Given the description of an element on the screen output the (x, y) to click on. 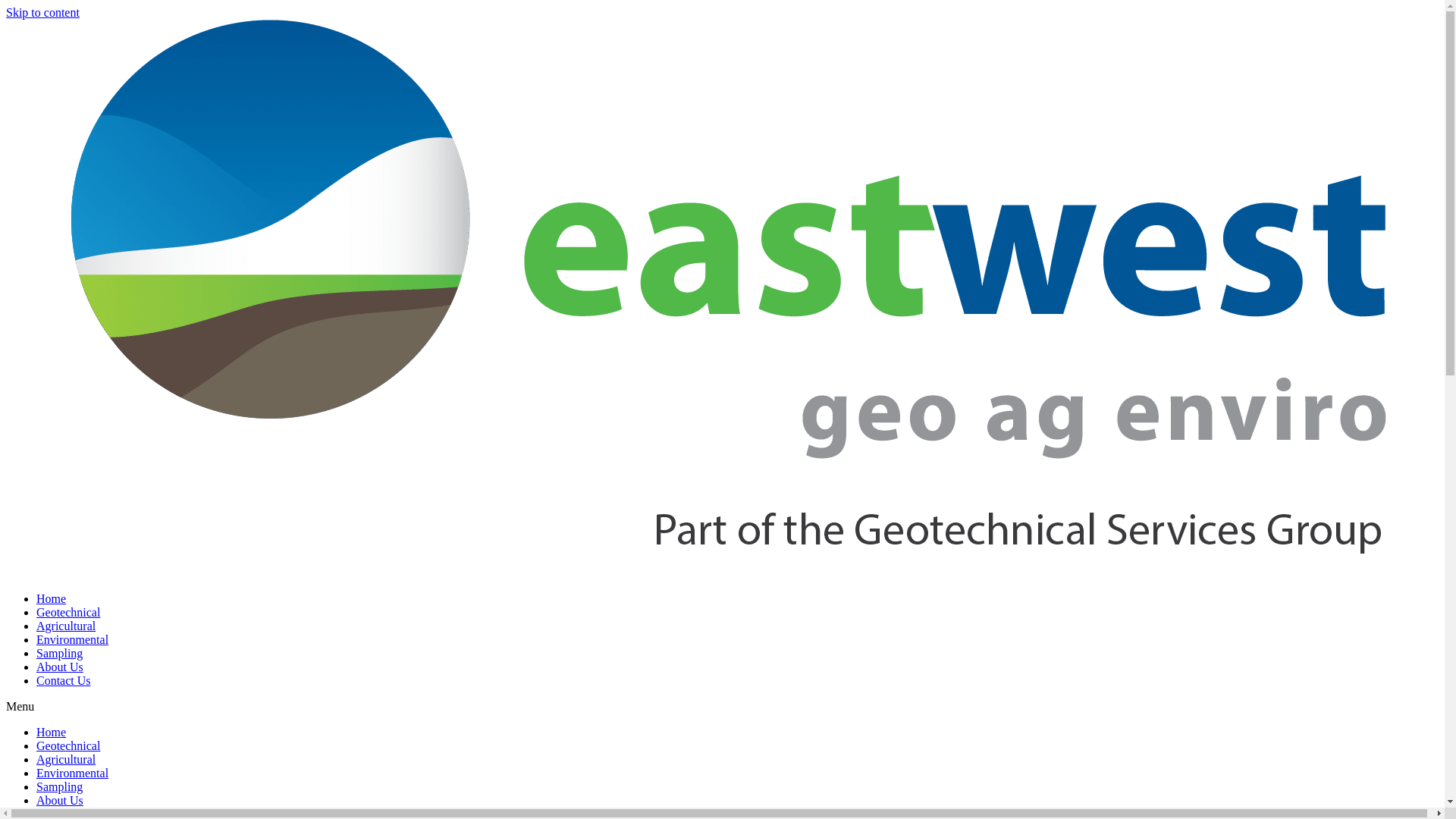
About Us Element type: text (59, 666)
Geotechnical Element type: text (68, 745)
Geotechnical Element type: text (68, 611)
Agricultural Element type: text (65, 759)
Sampling Element type: text (59, 786)
About Us Element type: text (59, 799)
Environmental Element type: text (72, 772)
Sampling Element type: text (59, 652)
Home Element type: text (50, 731)
Contact Us Element type: text (63, 680)
Skip to content Element type: text (42, 12)
Agricultural Element type: text (65, 625)
Environmental Element type: text (72, 639)
Home Element type: text (50, 598)
